Given the description of an element on the screen output the (x, y) to click on. 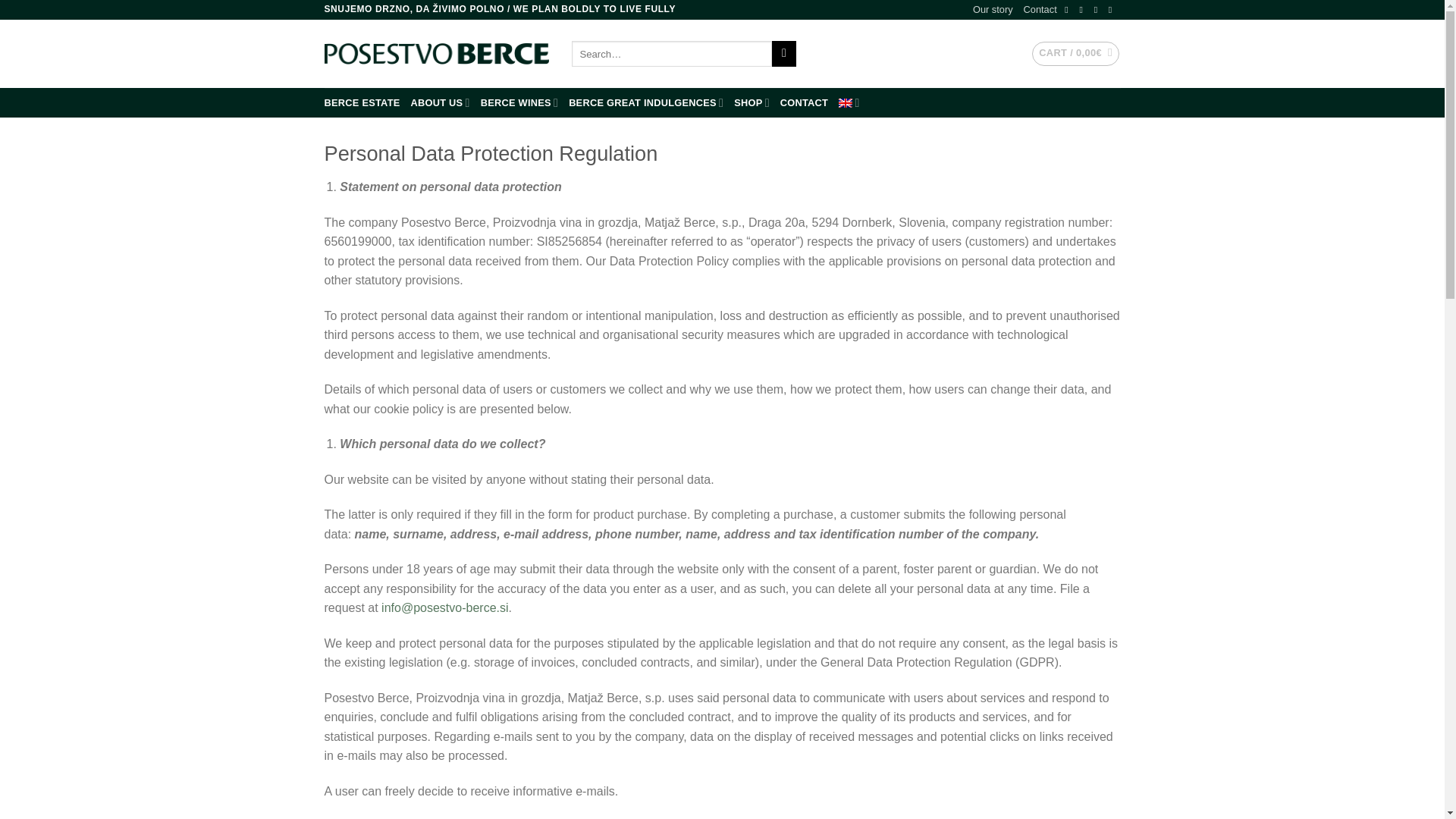
ABOUT US (440, 102)
Contact (1040, 9)
BERCE WINES (518, 102)
Cart (1075, 53)
Search (783, 53)
BERCE GREAT INDULGENCES (646, 102)
SHOP (751, 102)
BERCE ESTATE (362, 103)
Our story (992, 9)
Posestvo Berce (436, 53)
